Given the description of an element on the screen output the (x, y) to click on. 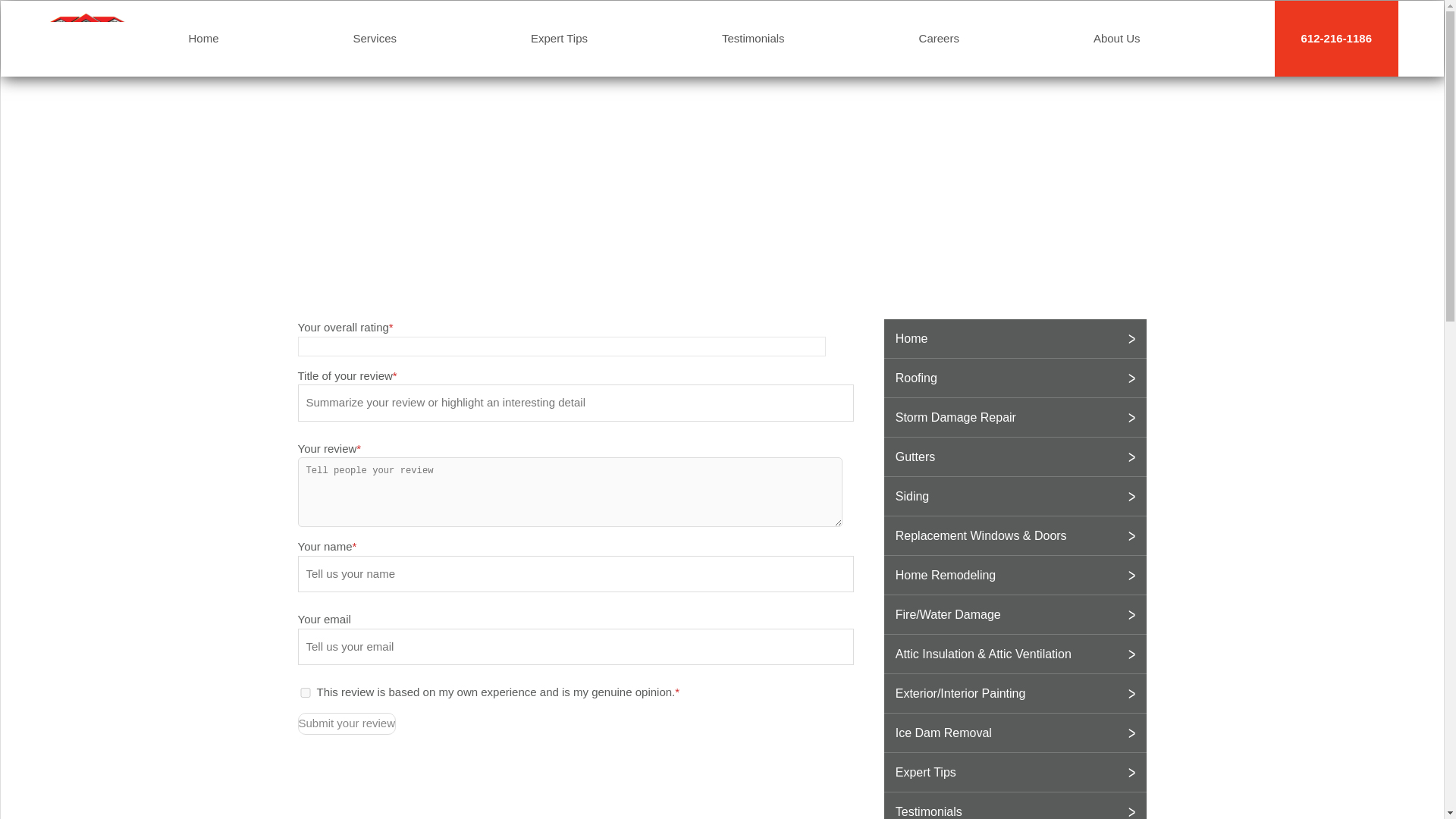
Gutters (1015, 456)
Home (1015, 338)
Home (202, 38)
Siding (1015, 495)
Services (375, 38)
Careers (938, 38)
Roofing (1015, 377)
612-216-1186 (1336, 38)
Testimonials (753, 38)
Storm Damage Repair (1015, 417)
